Given the description of an element on the screen output the (x, y) to click on. 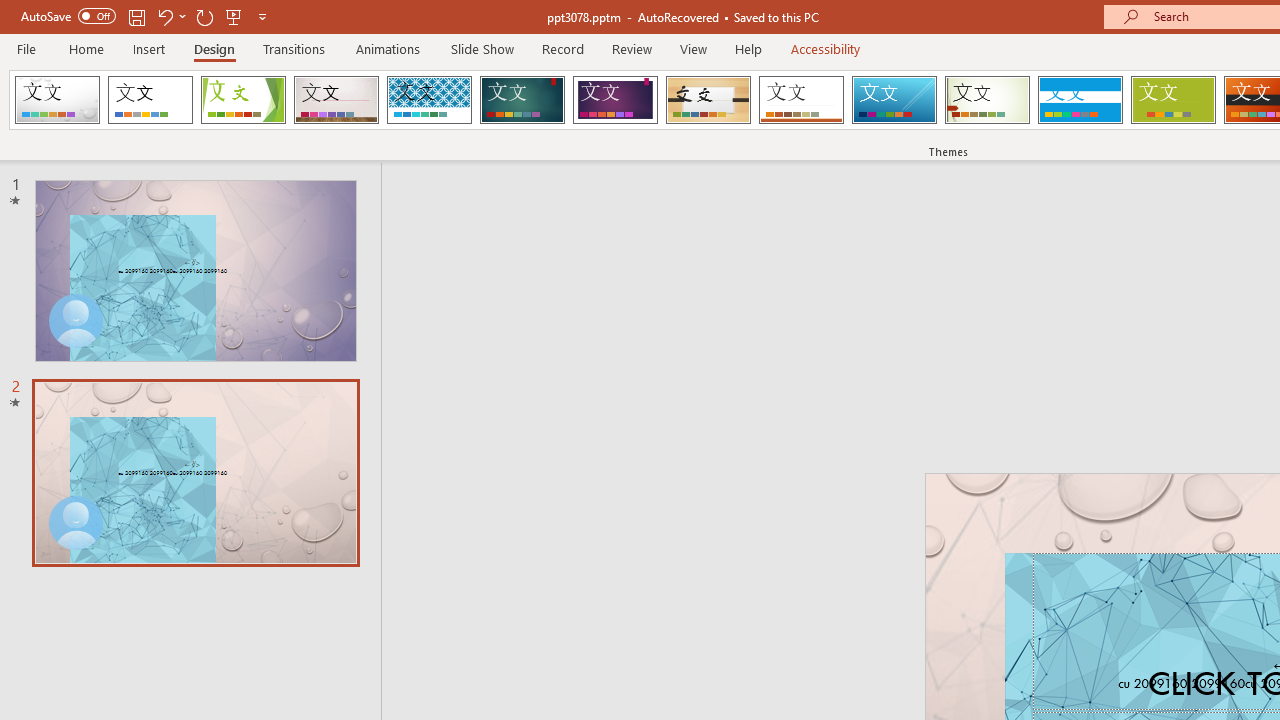
Retrospect (801, 100)
Organic (708, 100)
Office Theme (150, 100)
Gallery (336, 100)
